Given the description of an element on the screen output the (x, y) to click on. 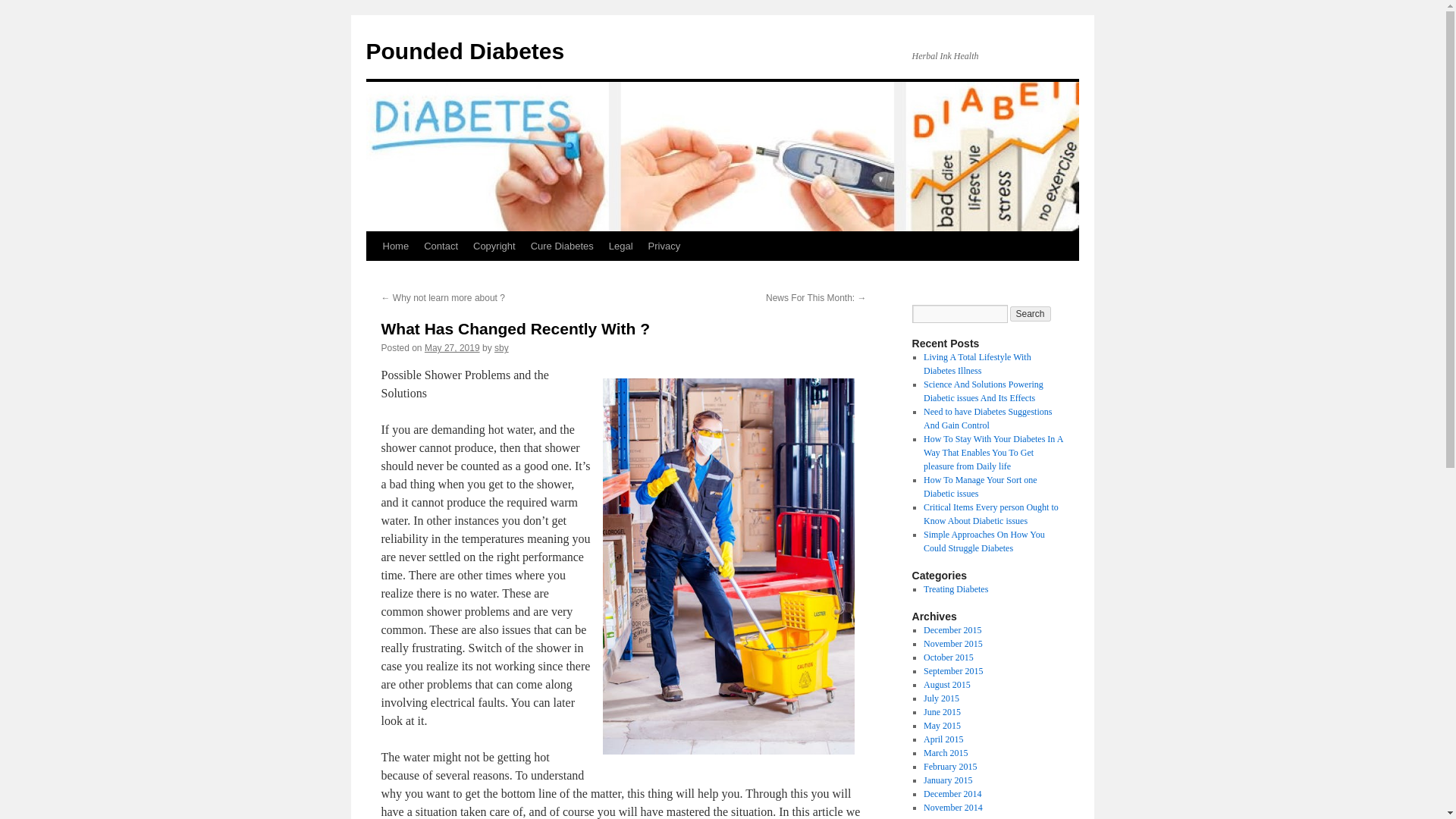
Pounded Diabetes (464, 50)
Legal (620, 246)
sby (501, 347)
November 2015 (952, 643)
Treating Diabetes (955, 588)
October 2015 (948, 656)
December 2015 (952, 629)
June 2015 (941, 711)
Simple Approaches On How You Could Struggle Diabetes (984, 541)
